Given the description of an element on the screen output the (x, y) to click on. 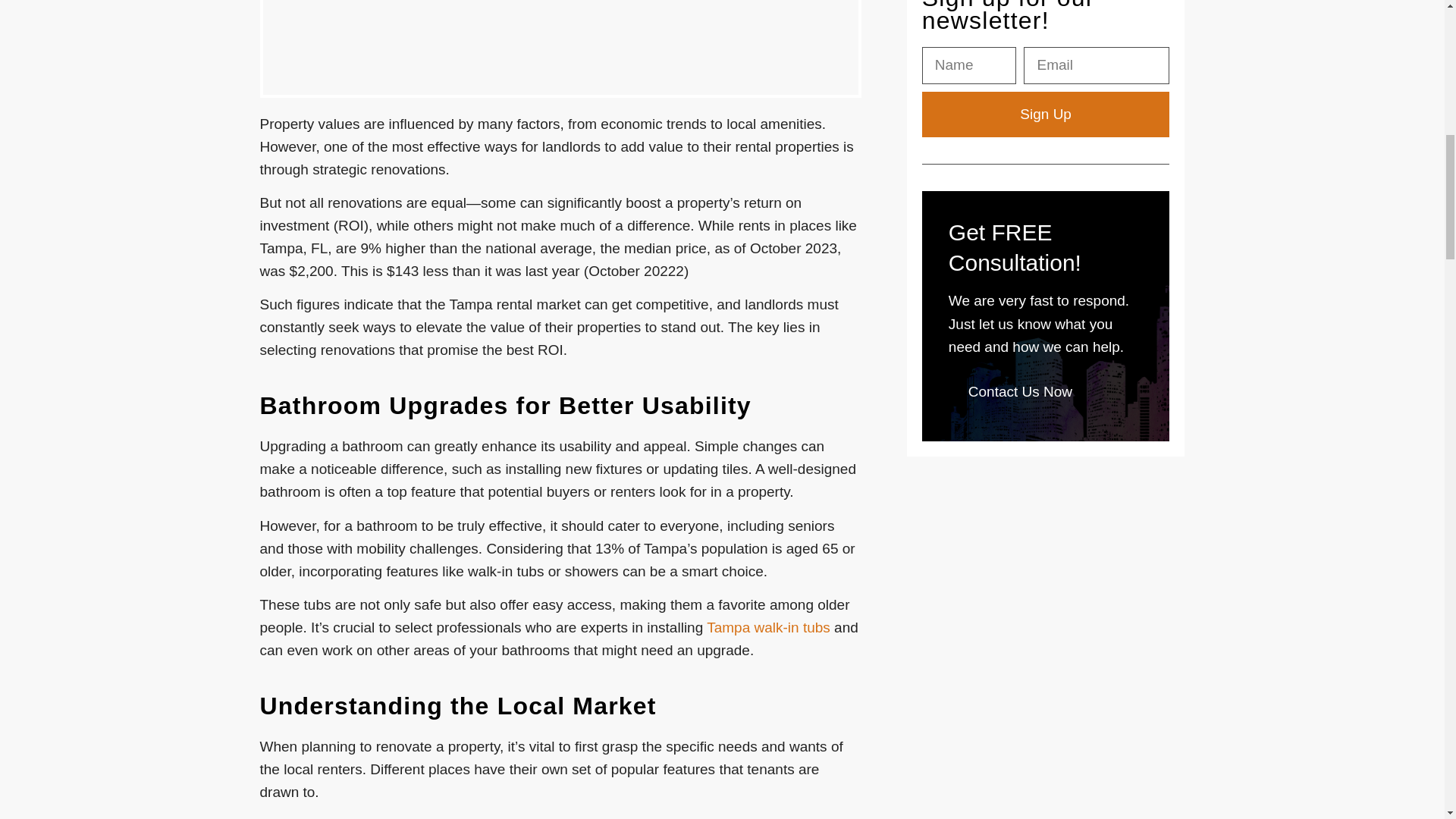
Sign Up (1045, 114)
Contact Us Now (1020, 392)
Tampa walk-in tubs (767, 627)
